Given the description of an element on the screen output the (x, y) to click on. 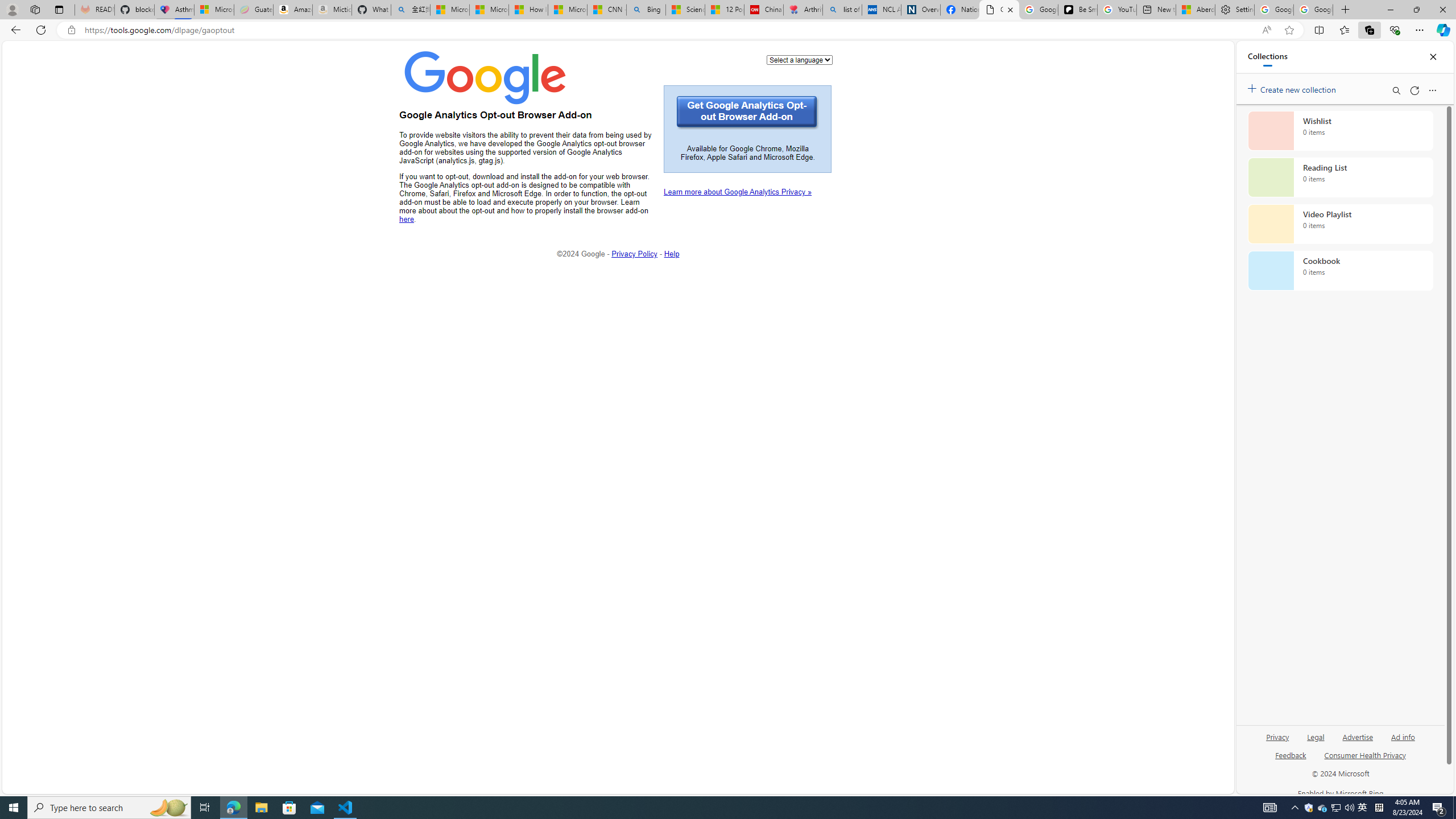
Privacy (1278, 736)
Aberdeen, Hong Kong SAR hourly forecast | Microsoft Weather (1195, 9)
Cookbook collection, 0 items (1339, 270)
12 Popular Science Lies that Must be Corrected (724, 9)
